Given the description of an element on the screen output the (x, y) to click on. 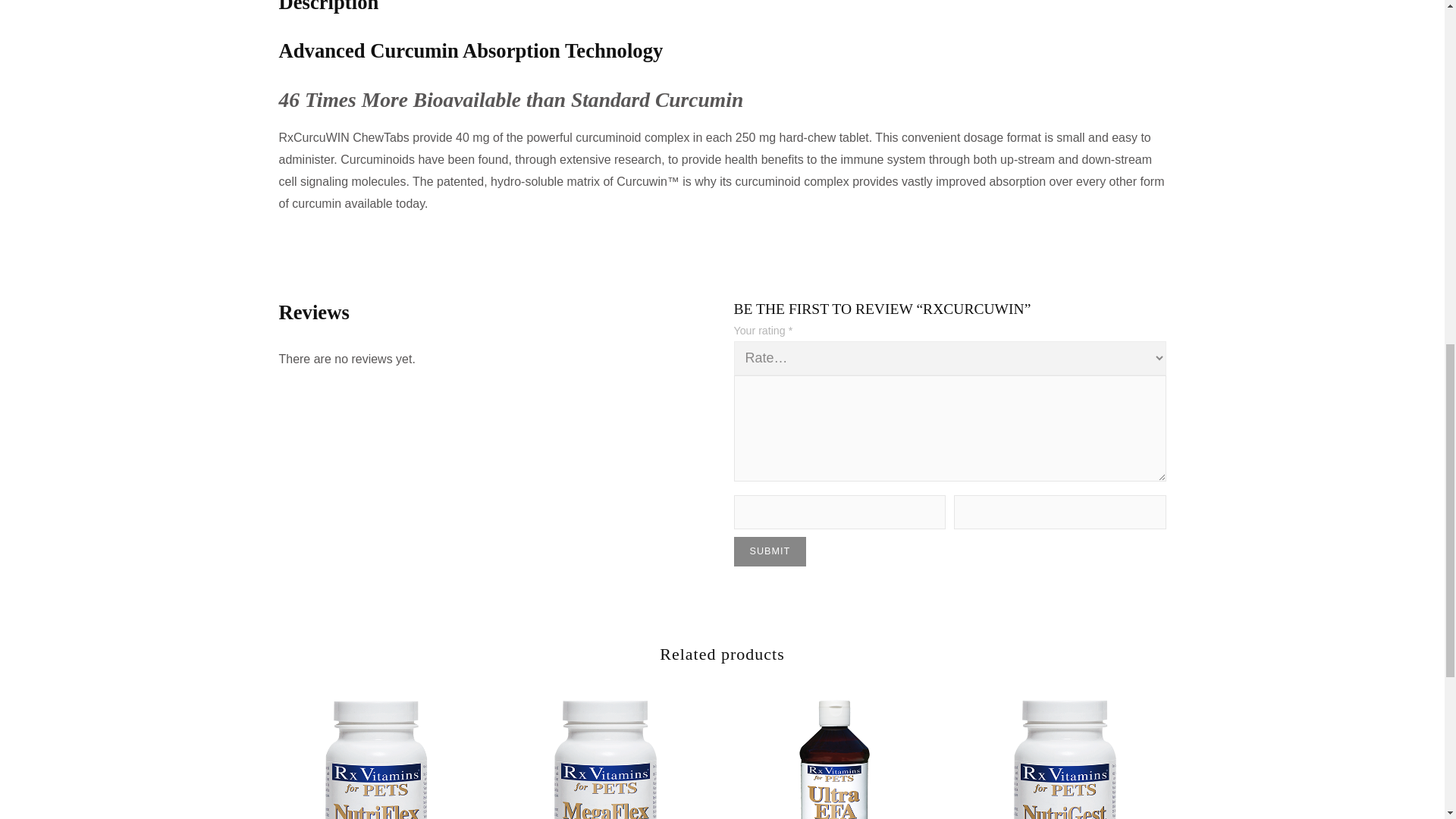
Submit (769, 551)
Submit (769, 551)
